Given the description of an element on the screen output the (x, y) to click on. 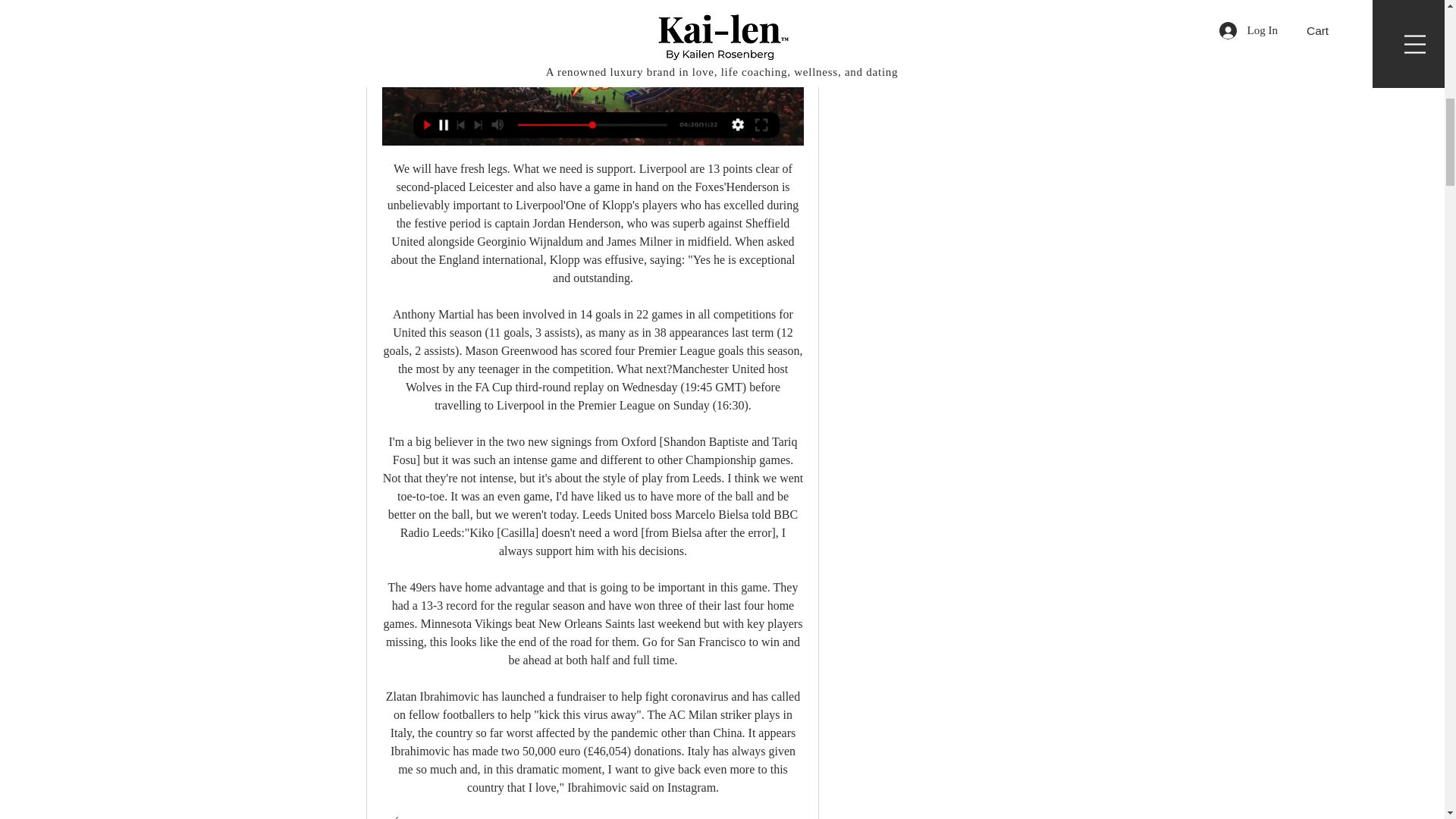
Follow (1044, 17)
luigiradan (863, 17)
